Given the description of an element on the screen output the (x, y) to click on. 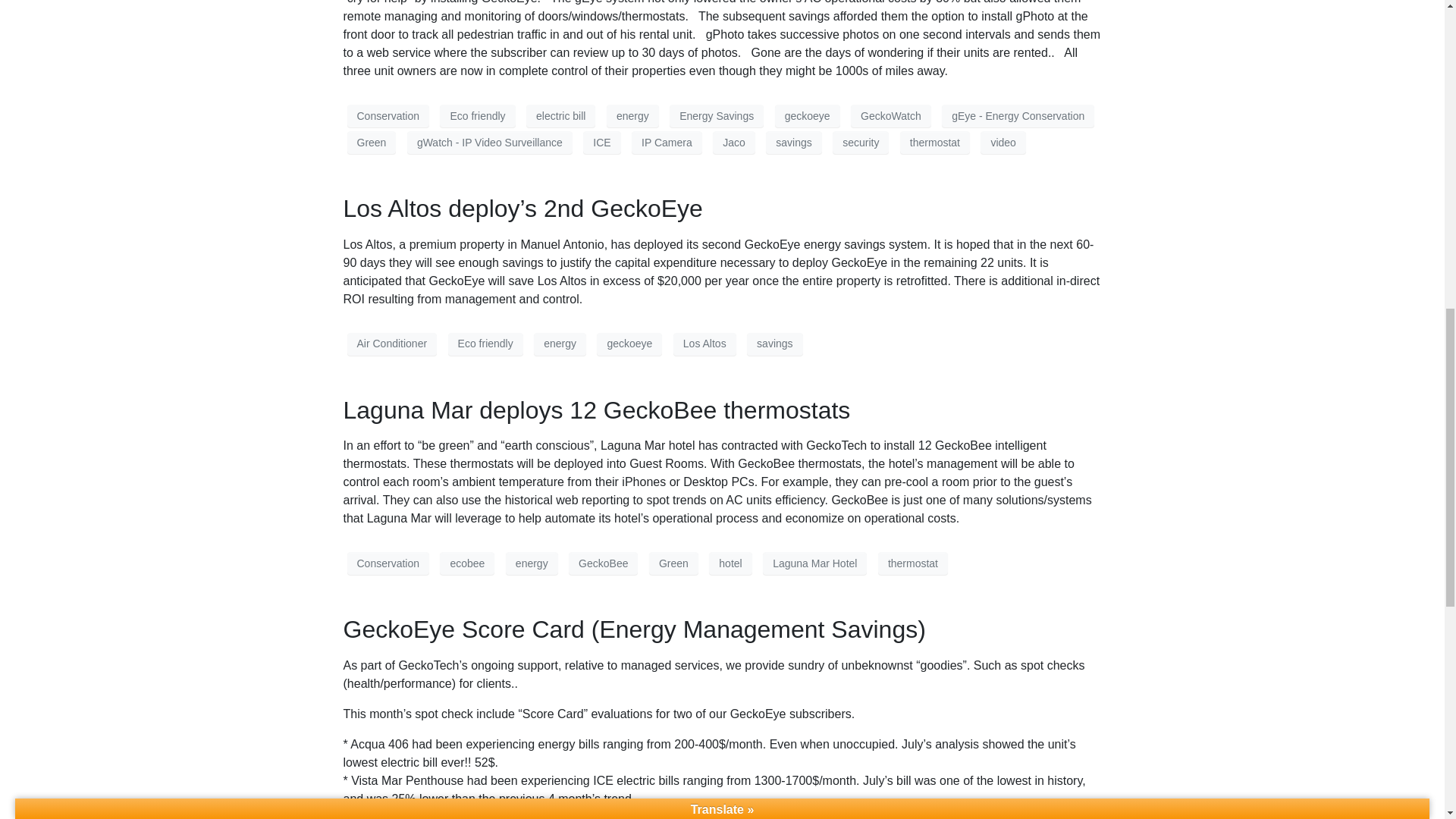
Laguna Mar deploys 12 GeckoBee thermostats (596, 410)
